Given the description of an element on the screen output the (x, y) to click on. 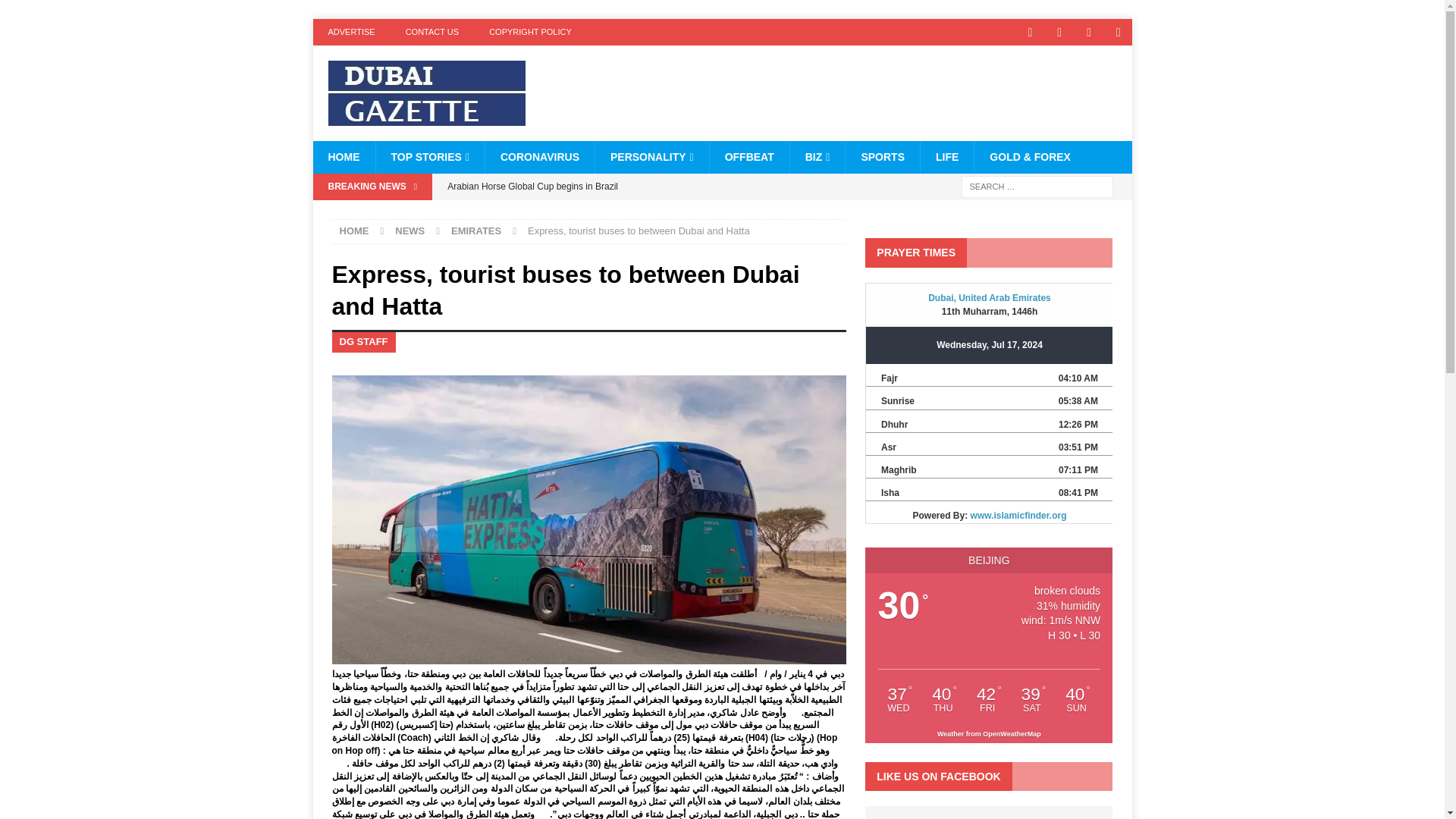
ADVERTISE (351, 31)
TOP STORIES (429, 156)
HOME (343, 156)
COPYRIGHT POLICY (530, 31)
PERSONALITY (651, 156)
Arabian Horse Global Cup begins in Brazil (640, 186)
CONTACT US (432, 31)
CORONAVIRUS (539, 156)
